Given the description of an element on the screen output the (x, y) to click on. 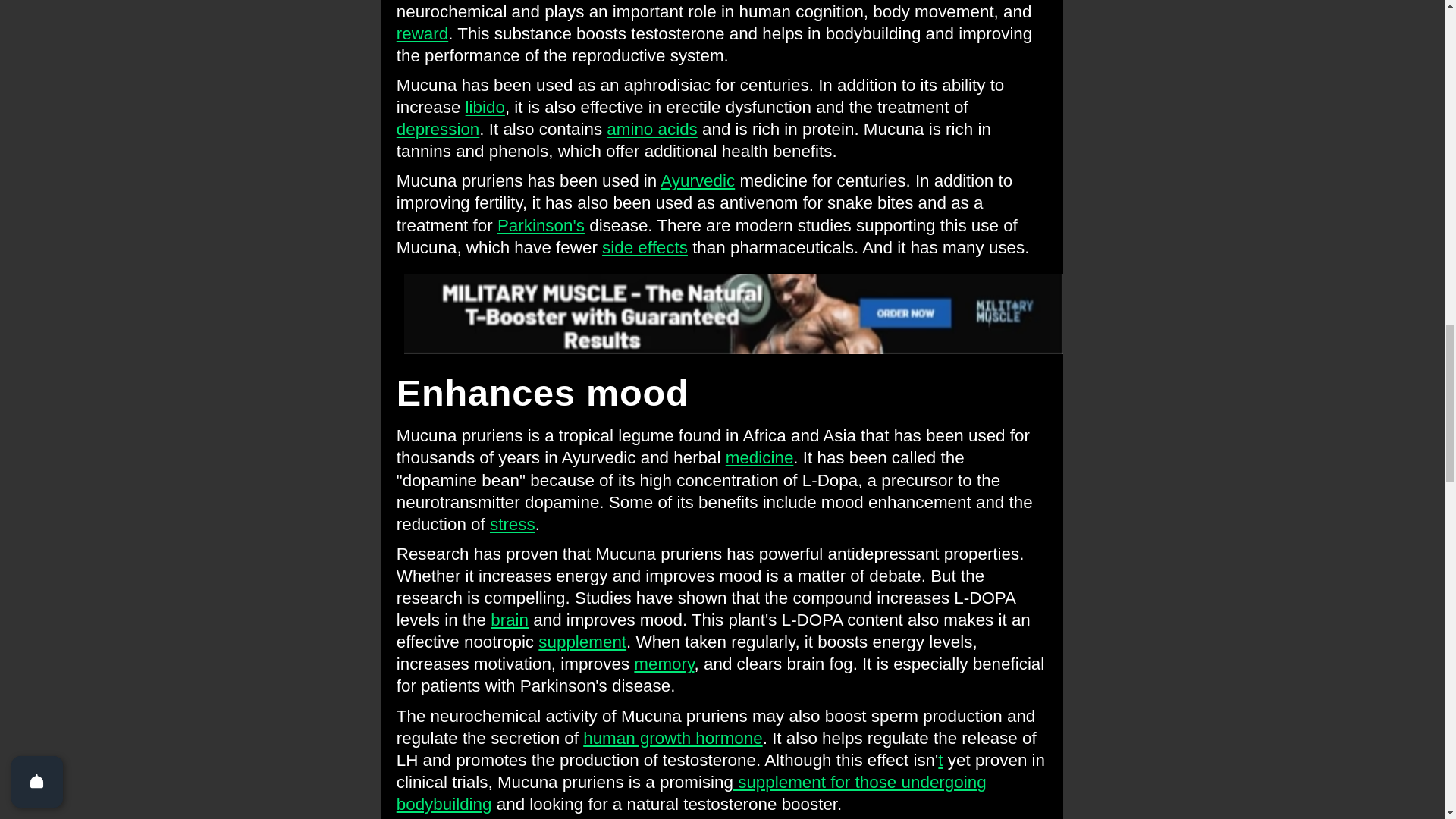
depression (438, 128)
reward (422, 33)
libido (485, 107)
